Given the description of an element on the screen output the (x, y) to click on. 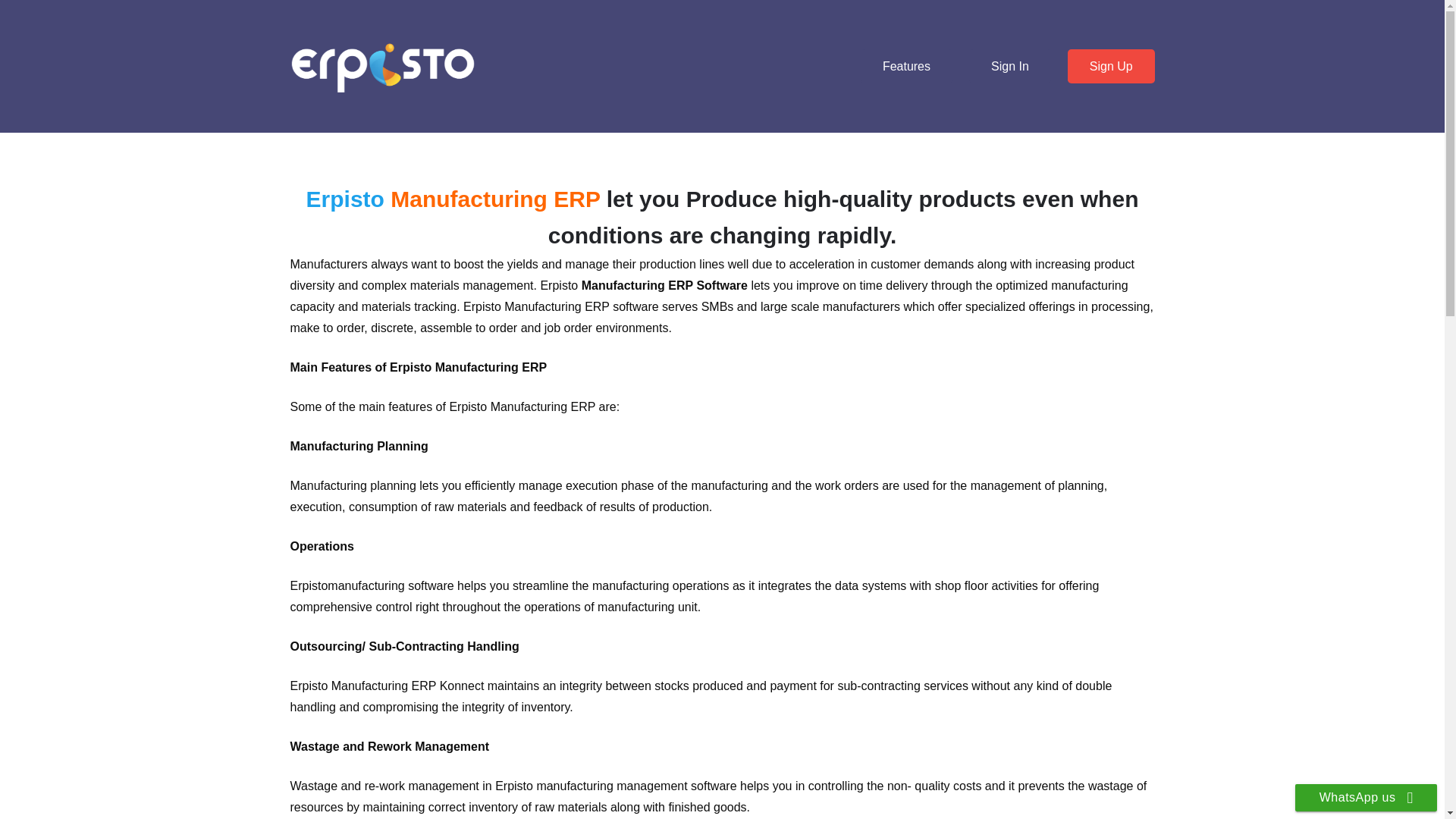
Features (906, 66)
Sign In (1009, 66)
Sign Up (1110, 66)
WhatsApp us (1366, 797)
